Given the description of an element on the screen output the (x, y) to click on. 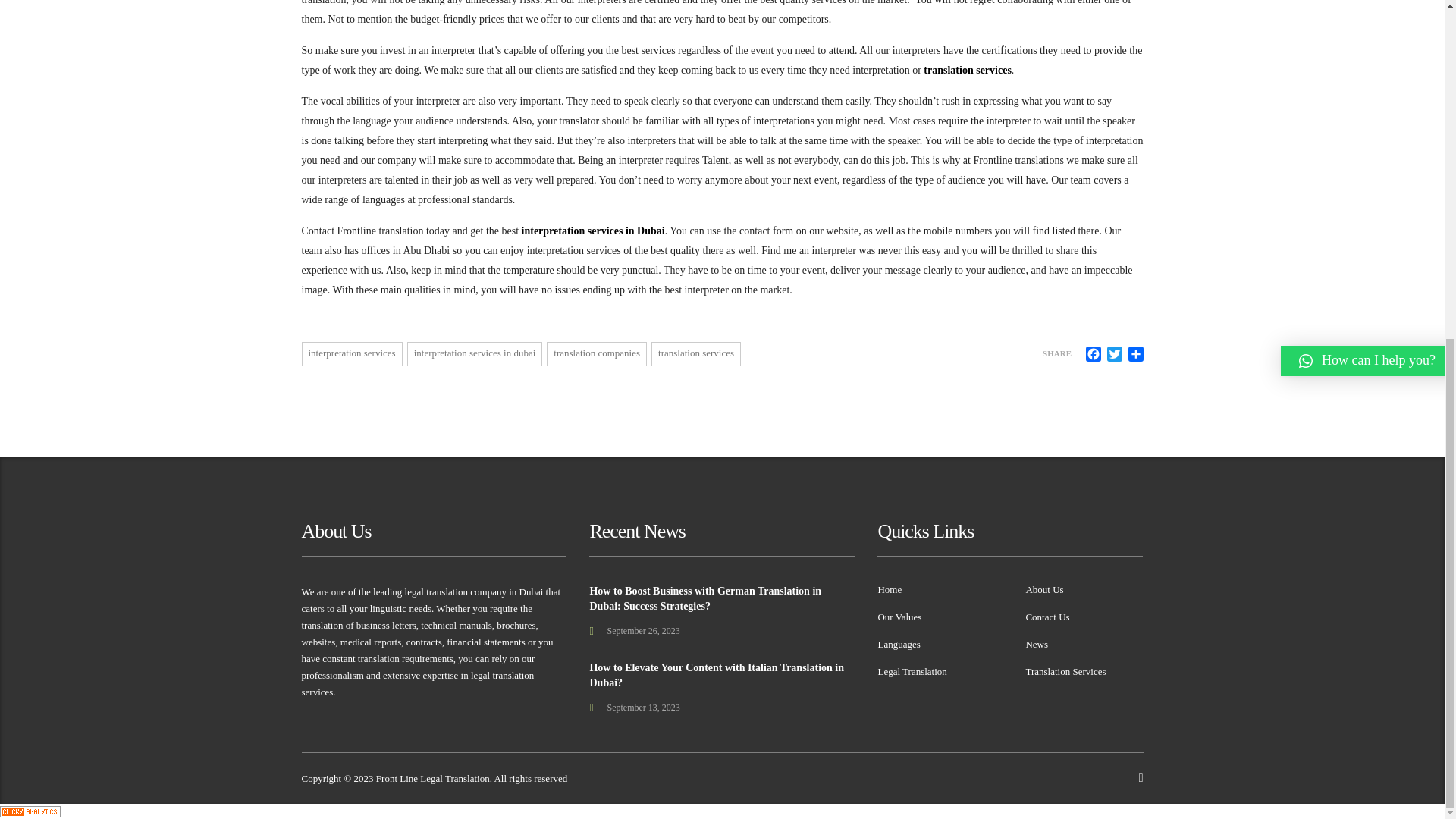
Web Statistics (30, 810)
Facebook (1093, 353)
translation services (966, 70)
Twitter (1114, 353)
interpretation services in dubai (475, 354)
Twitter (1114, 353)
Facebook (1093, 353)
translation services (695, 354)
translation companies (596, 354)
interpretation services (352, 354)
interpretation services in Dubai (593, 230)
